Given the description of an element on the screen output the (x, y) to click on. 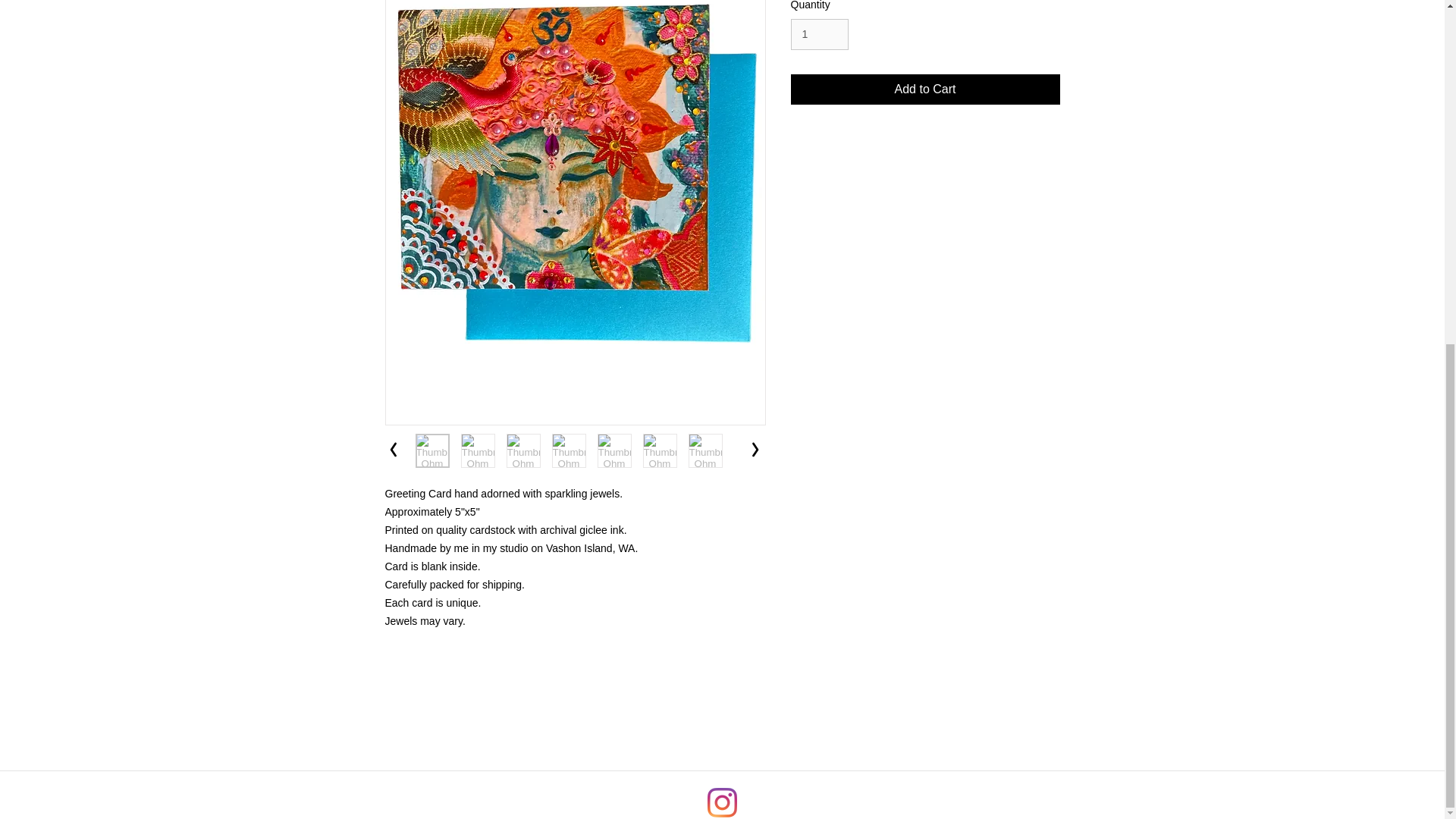
Add to Cart (924, 89)
1 (818, 33)
